Given the description of an element on the screen output the (x, y) to click on. 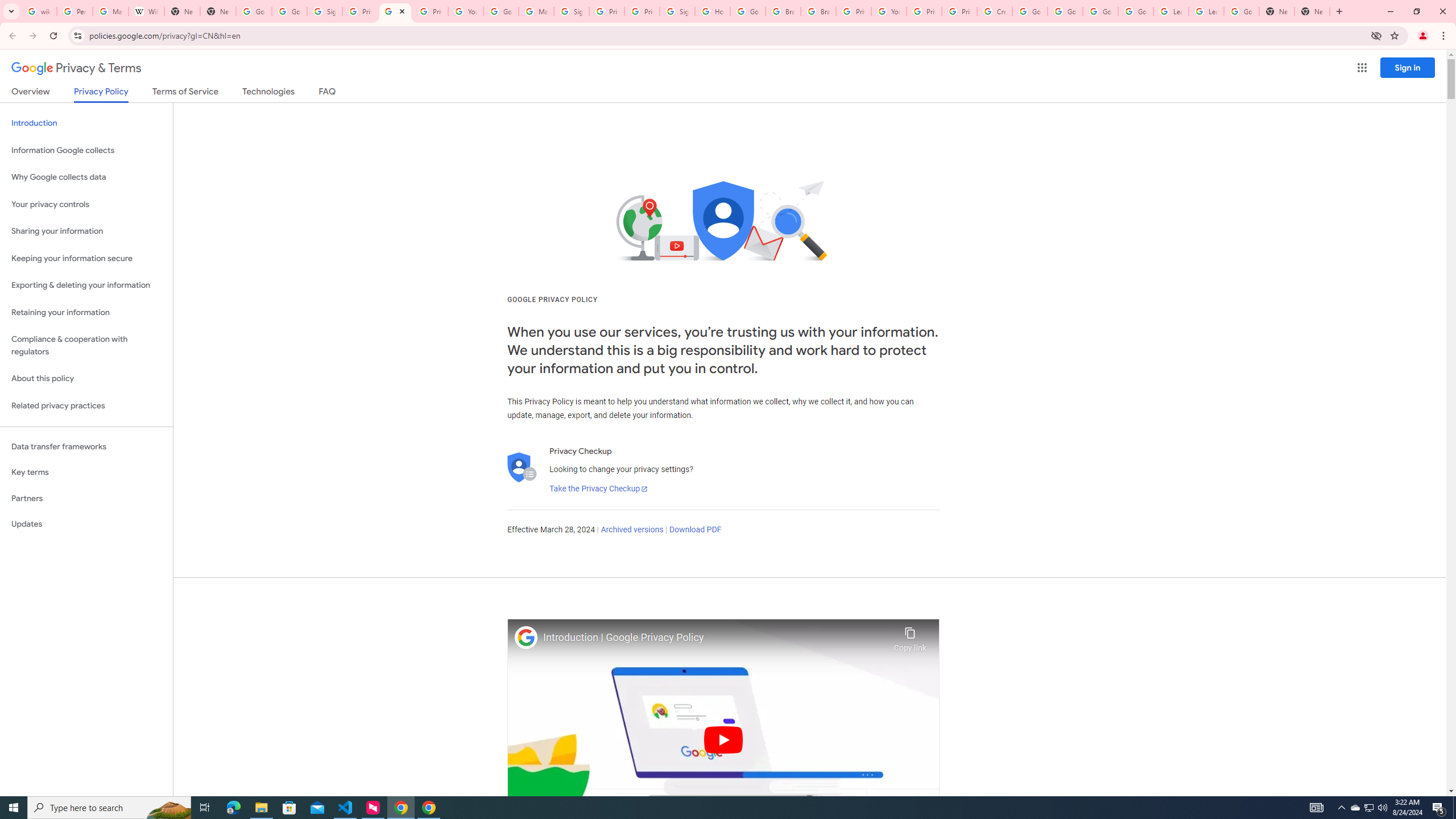
Google Account Help (501, 11)
Brand Resource Center (783, 11)
